Given the description of an element on the screen output the (x, y) to click on. 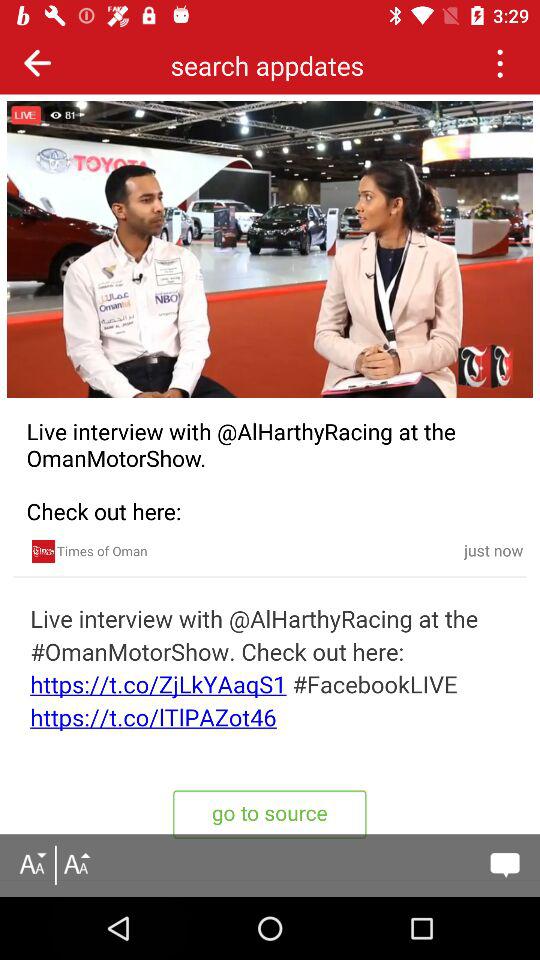
open settings (499, 62)
